Given the description of an element on the screen output the (x, y) to click on. 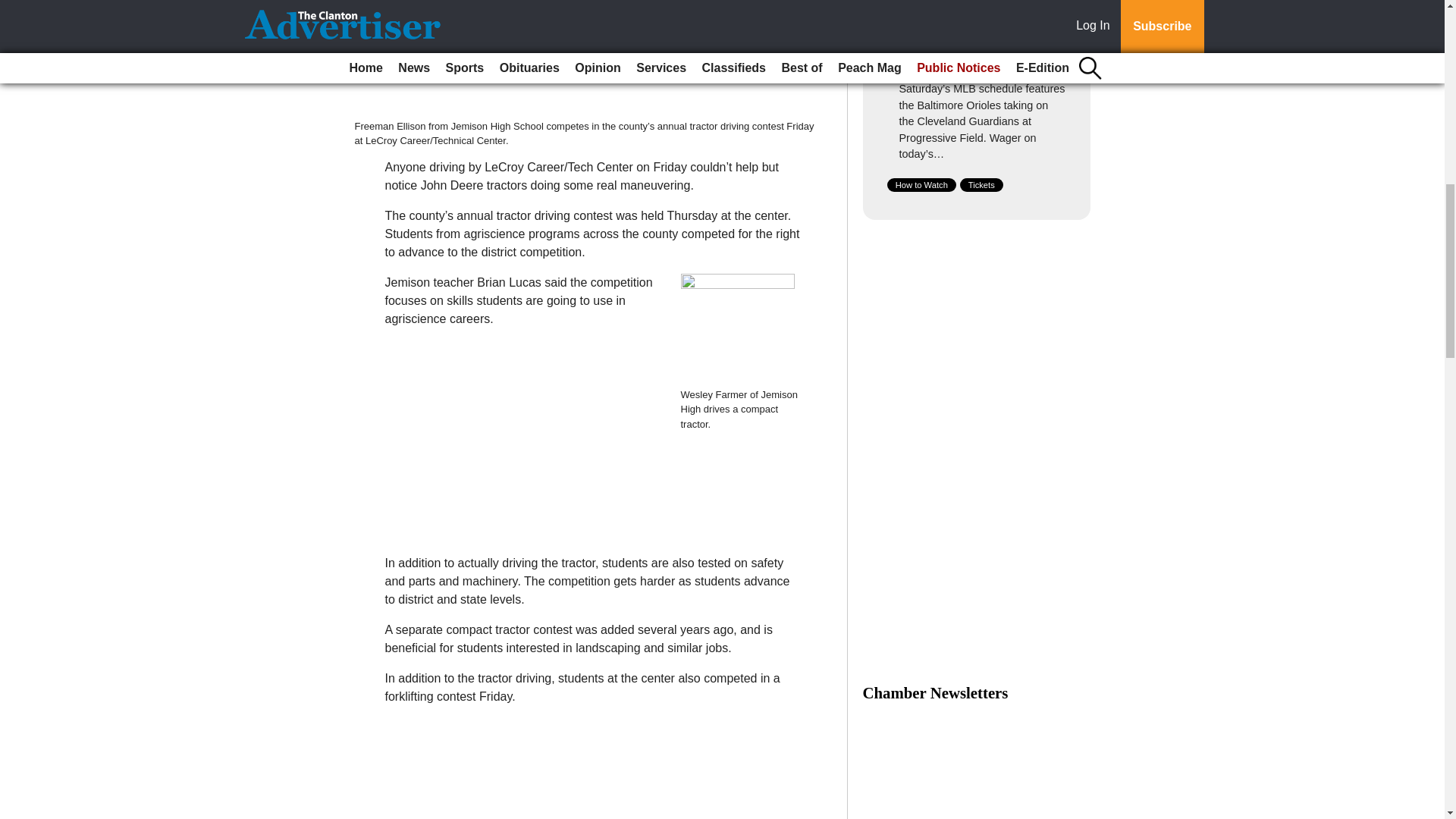
4-15 wesley-farmer (737, 330)
4-15 freeman-ellison (582, 59)
